Given the description of an element on the screen output the (x, y) to click on. 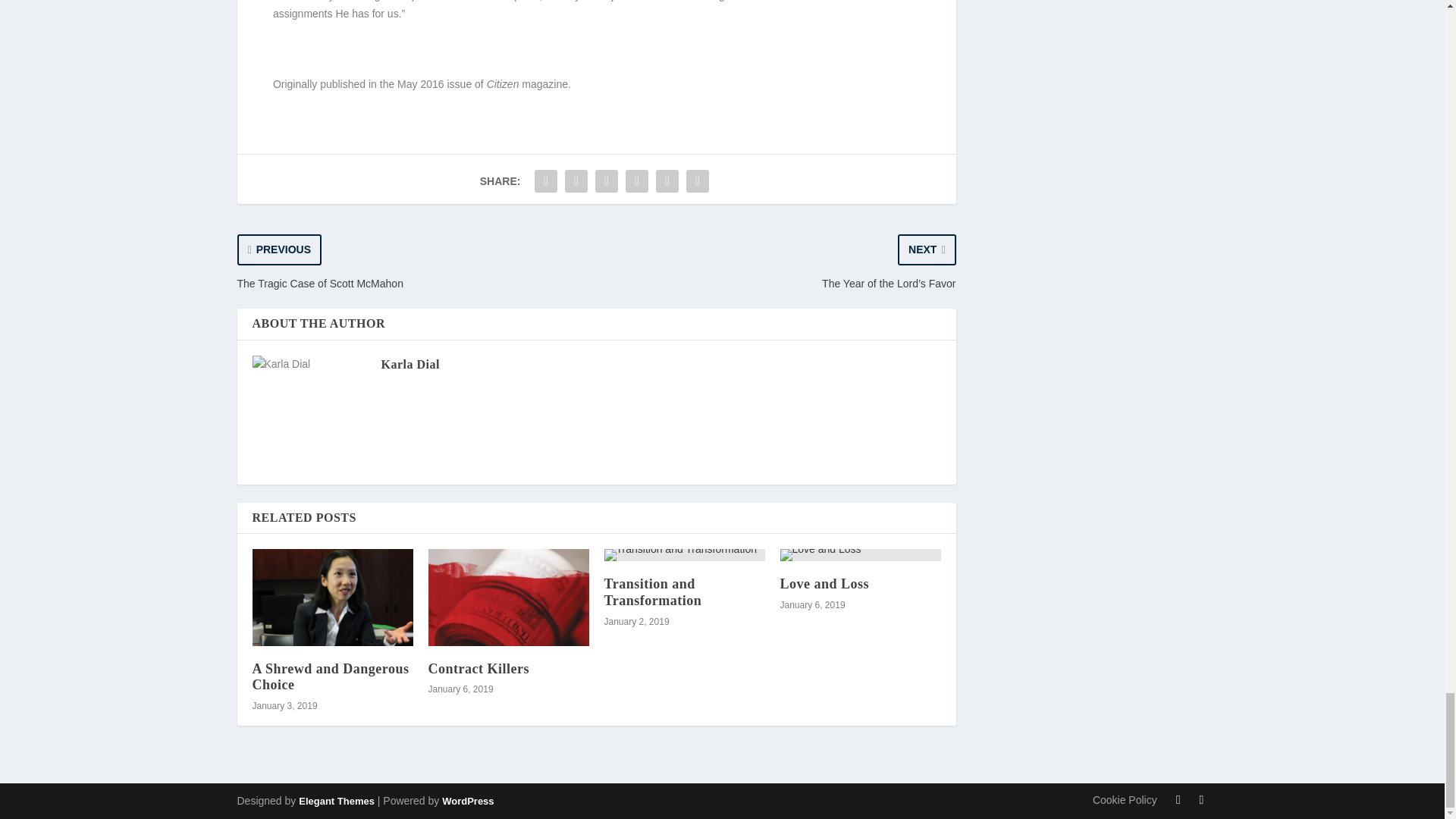
Transition and Transformation (684, 554)
Share "Slaying the Giants" via Twitter (575, 181)
Premium WordPress Themes (336, 800)
Love and Loss (859, 554)
Karla Dial (409, 364)
Share "Slaying the Giants" via Print (697, 181)
Share "Slaying the Giants" via Email (667, 181)
Share "Slaying the Giants" via LinkedIn (636, 181)
Contract Killers (508, 596)
Share "Slaying the Giants" via Facebook (545, 181)
View all posts by Karla Dial (409, 364)
Share "Slaying the Giants" via Pinterest (606, 181)
Love and Loss (823, 583)
A Shrewd and Dangerous Choice (330, 676)
A Shrewd and Dangerous Choice (331, 596)
